Given the description of an element on the screen output the (x, y) to click on. 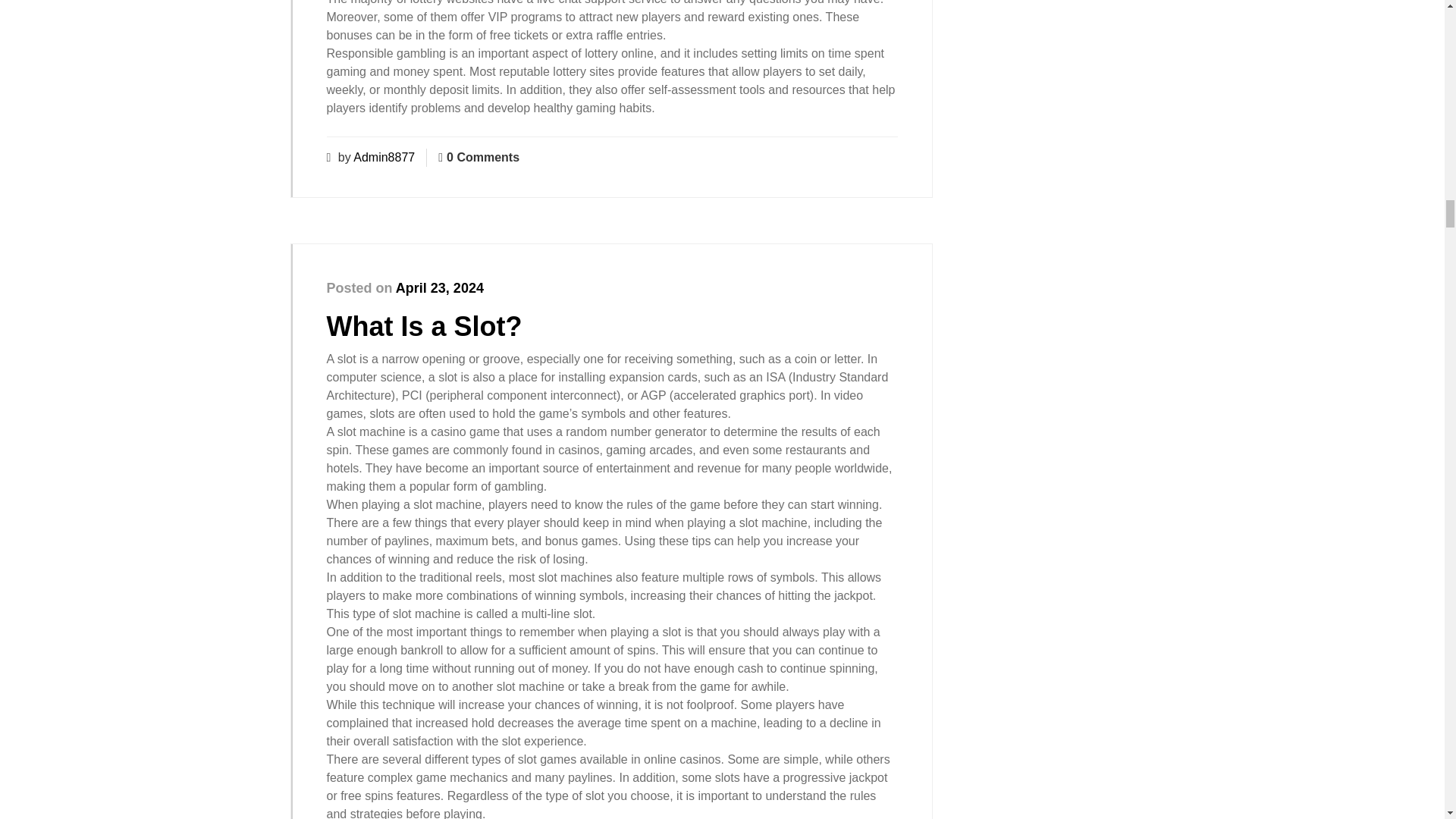
What Is a Slot? (423, 326)
April 23, 2024 (439, 287)
Admin8877 (383, 156)
